Given the description of an element on the screen output the (x, y) to click on. 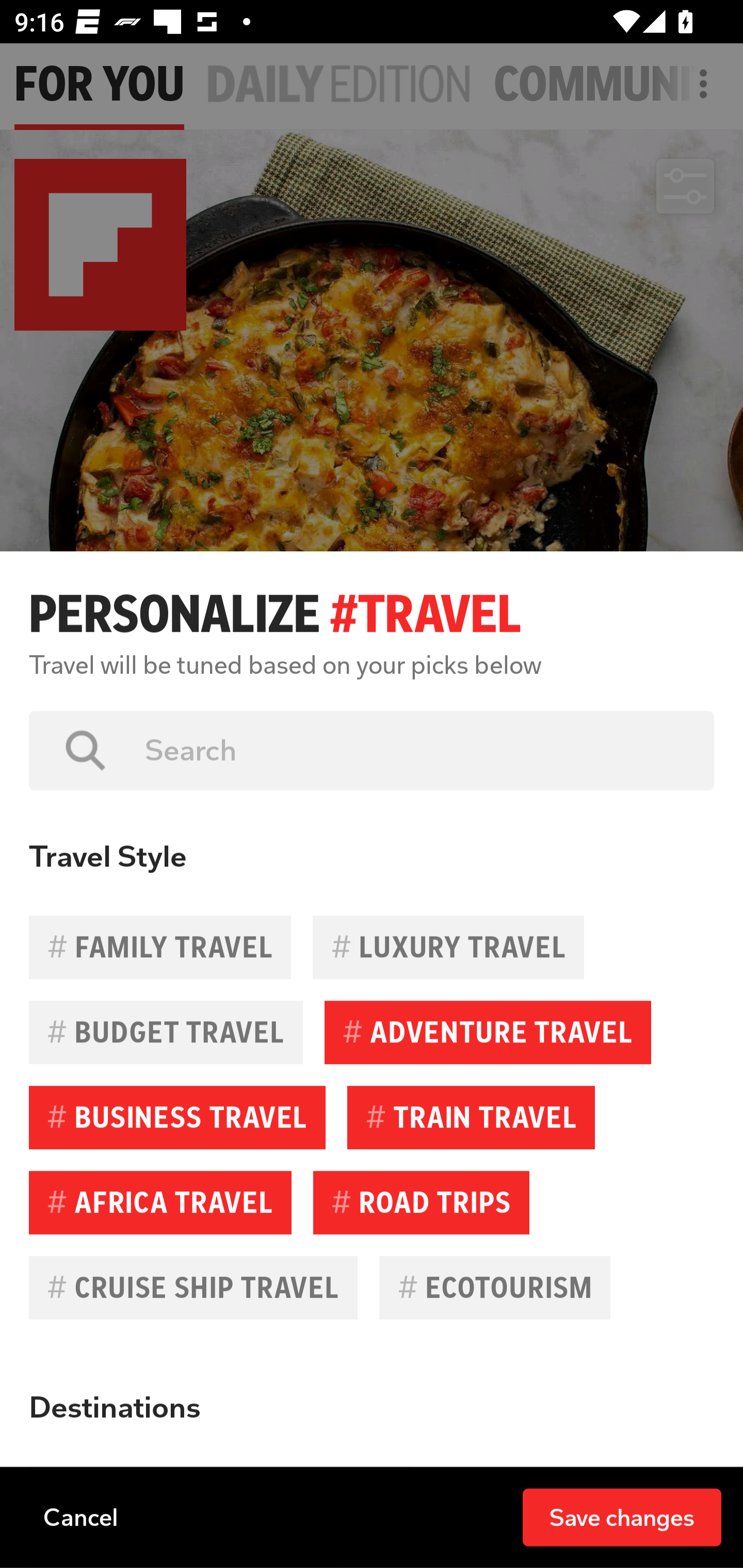
Search (414, 750)
# FAMILY TRAVEL (159, 946)
# LUXURY TRAVEL (447, 946)
# BUDGET TRAVEL (165, 1032)
# ADVENTURE TRAVEL (487, 1032)
# BUSINESS TRAVEL (176, 1117)
# TRAIN TRAVEL (470, 1117)
# AFRICA TRAVEL (159, 1202)
# ROAD TRIPS (421, 1202)
# CRUISE SHIP TRAVEL (192, 1286)
# ECOTOURISM (494, 1286)
Cancel (80, 1516)
Save changes (621, 1517)
